Given the description of an element on the screen output the (x, y) to click on. 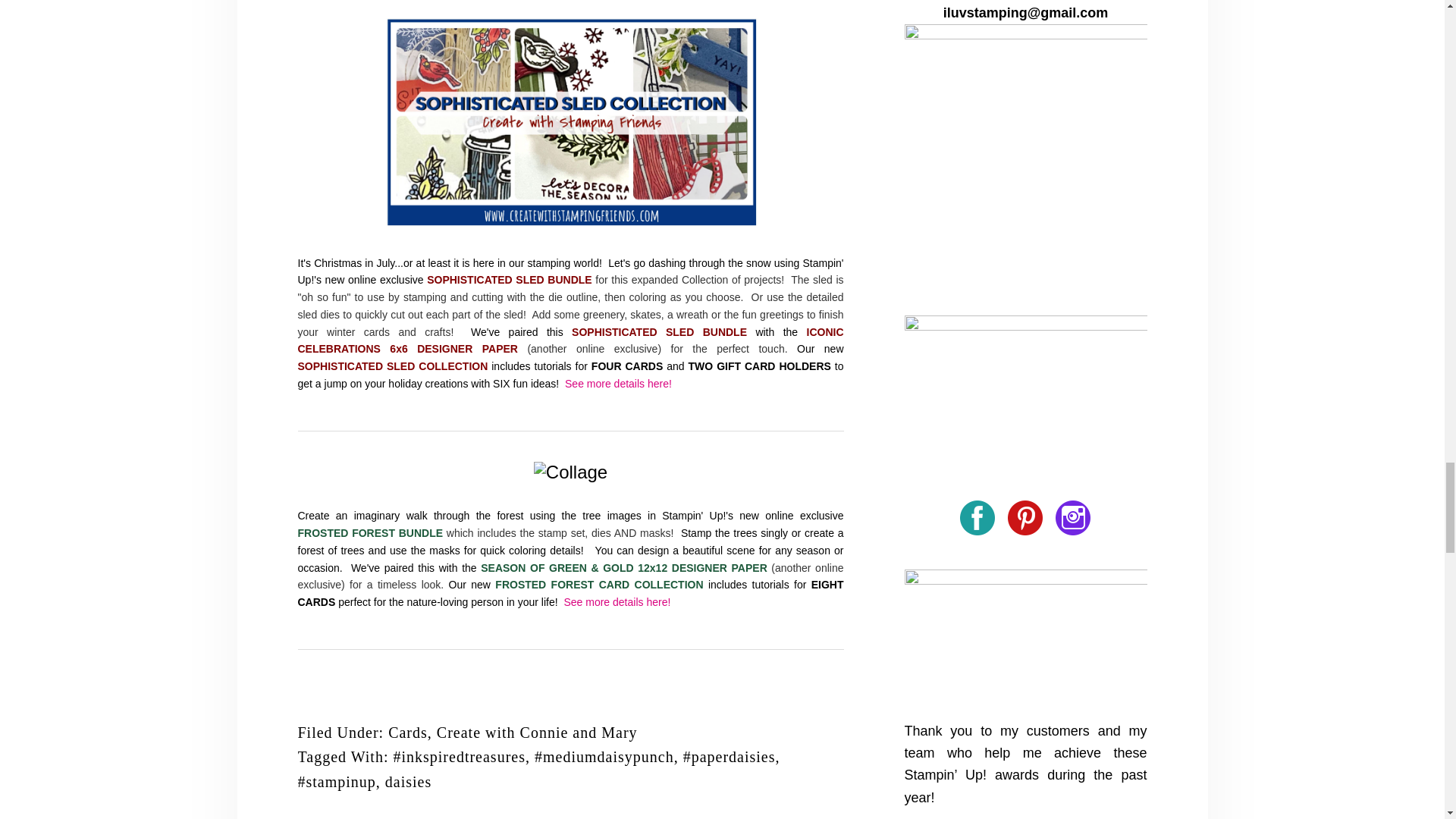
Create with Connie and Mary (536, 732)
See more details here! (617, 383)
See more details here! (615, 602)
daisies (407, 781)
Cards (408, 732)
